Given the description of an element on the screen output the (x, y) to click on. 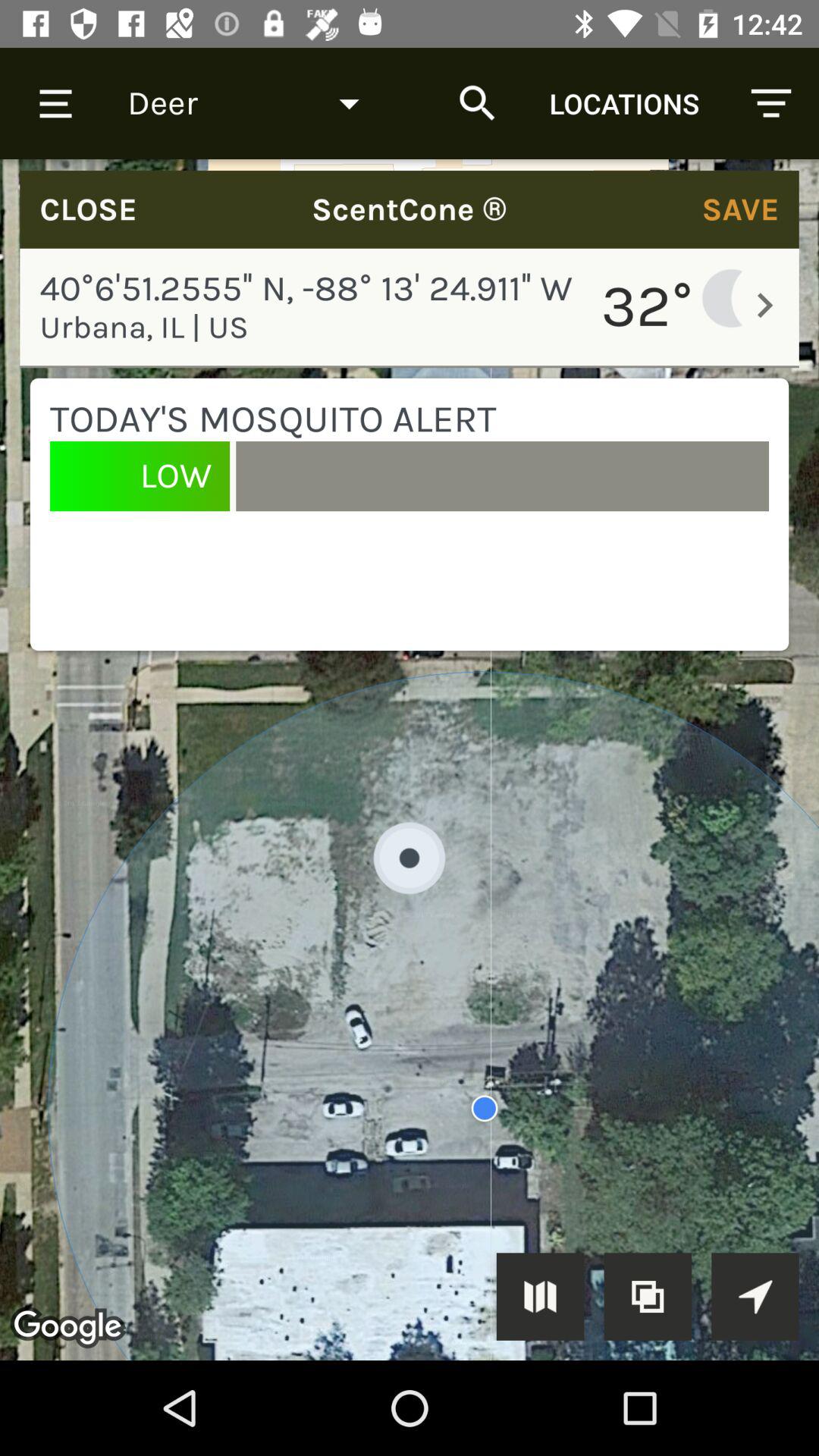
select the copy to clipboard icon (647, 1296)
click on the navigation arrow (755, 1296)
select scentcone which is left to save (409, 209)
click on icon at top right corner (771, 103)
select the entire box which says todays mosquito alert (409, 514)
click on deer which is in left side of search icon (254, 103)
